Given the description of an element on the screen output the (x, y) to click on. 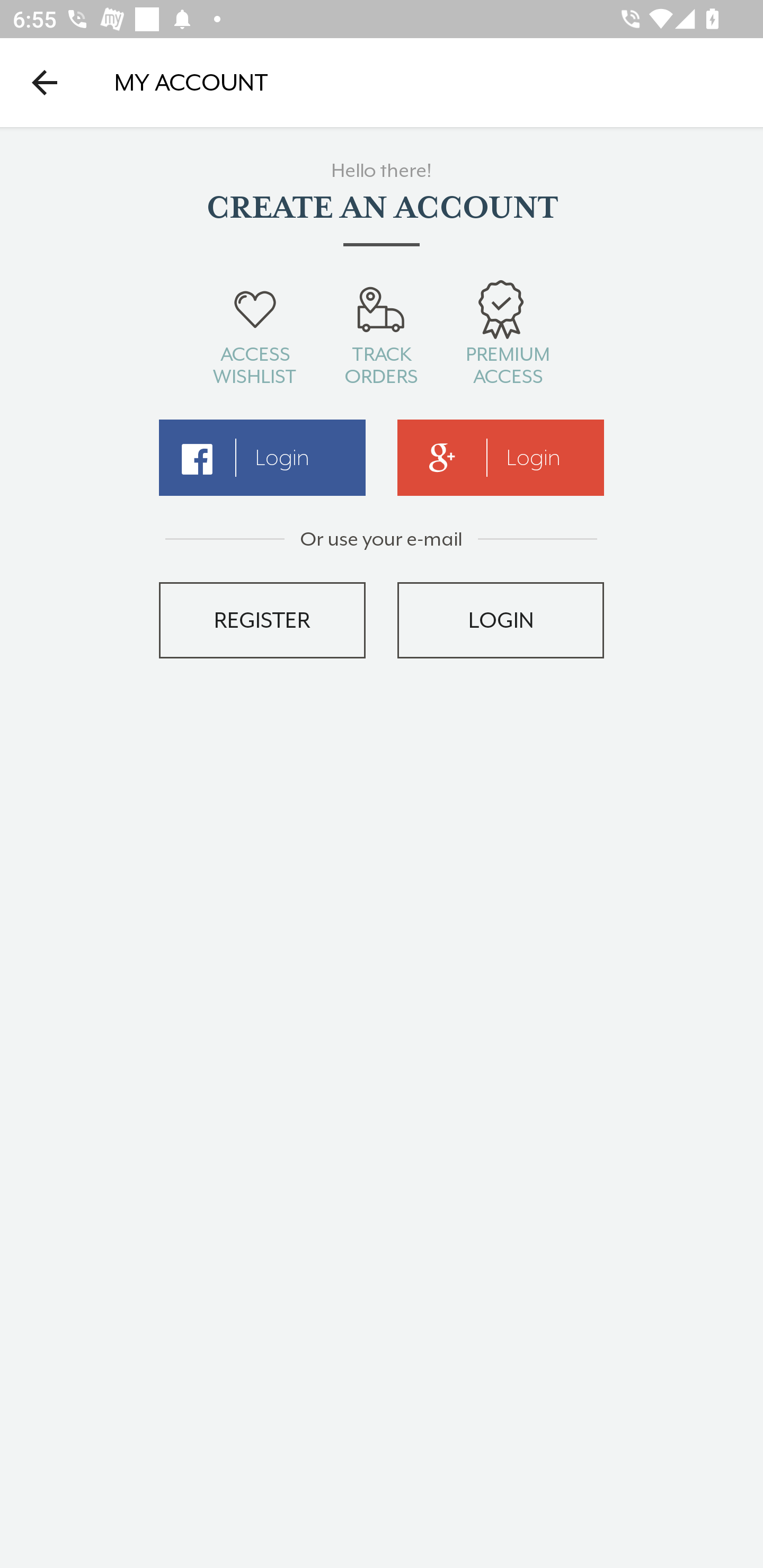
Navigate up (44, 82)
 Login (261, 457)
Login (500, 457)
REGISTER (261, 619)
LOGIN (500, 619)
